Given the description of an element on the screen output the (x, y) to click on. 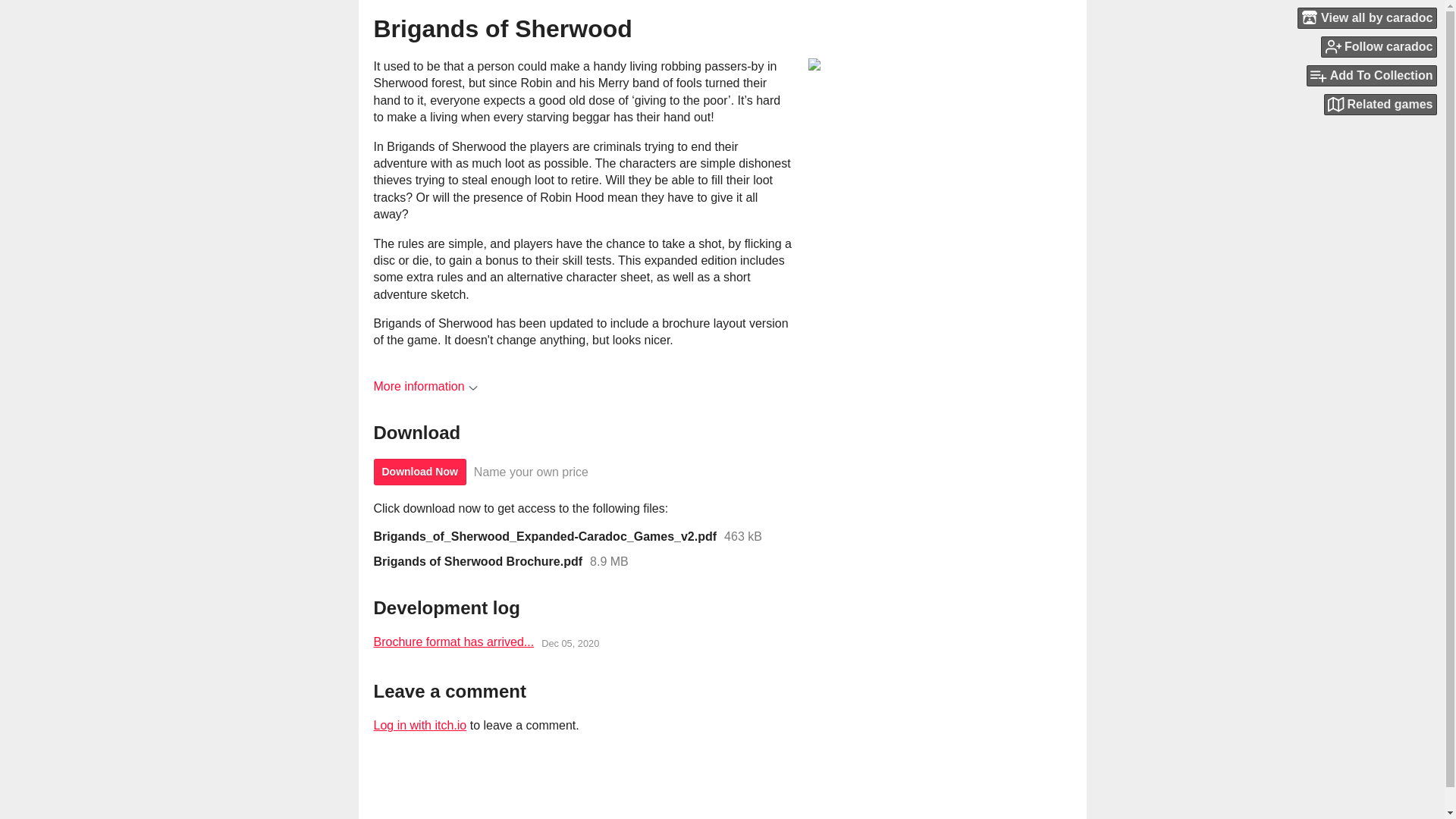
View all by caradoc (1367, 17)
Download Now (418, 471)
Follow caradoc (1378, 46)
Add To Collection (1371, 75)
Related games (1380, 104)
Brigands of Sherwood Brochure.pdf (477, 561)
Log in with itch.io (418, 725)
Brochure format has arrived... (453, 641)
More information (424, 386)
